Given the description of an element on the screen output the (x, y) to click on. 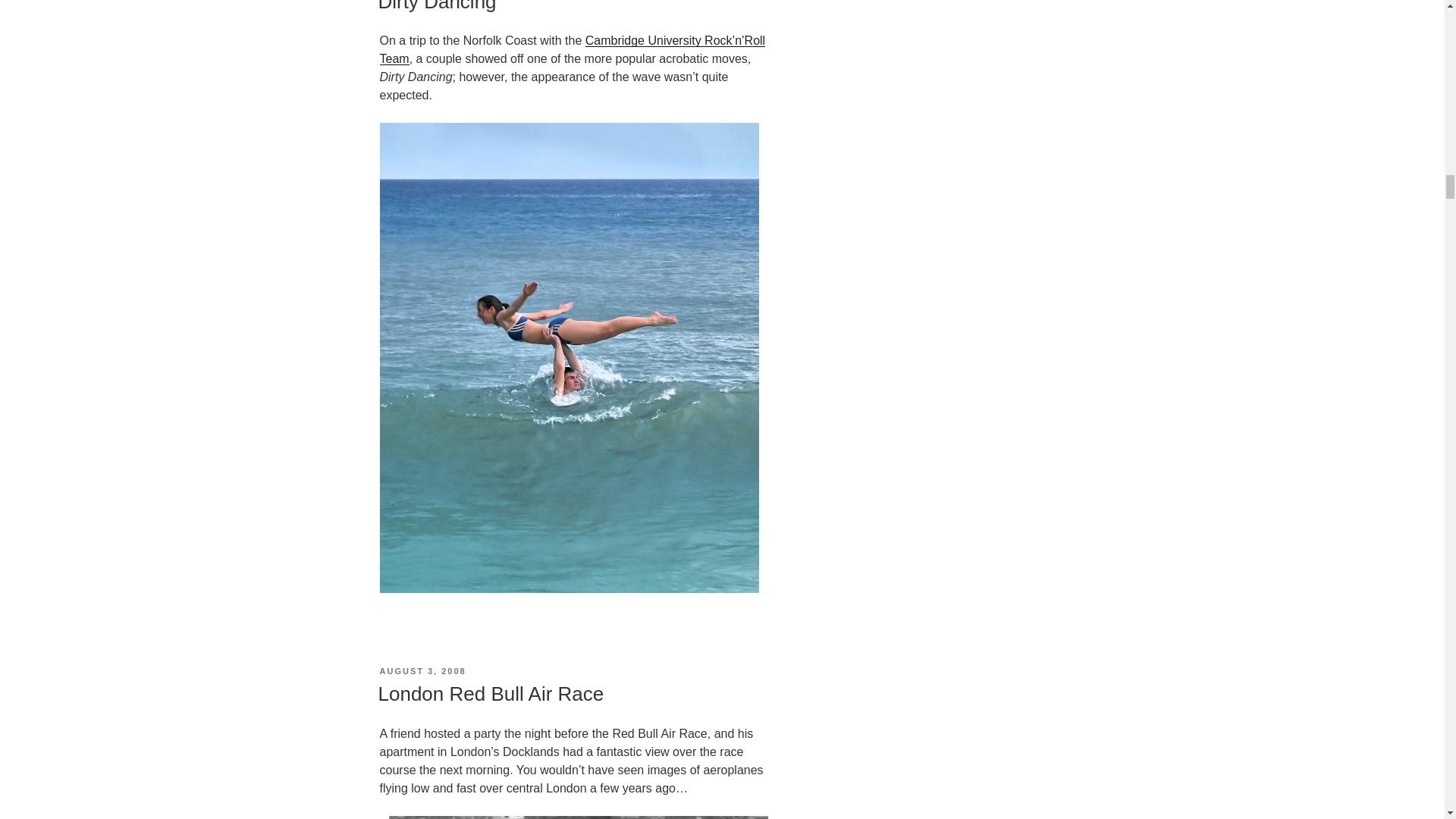
Dirty Dancing (436, 6)
AUGUST 3, 2008 (421, 670)
London Red Bull Air Race (490, 693)
